Given the description of an element on the screen output the (x, y) to click on. 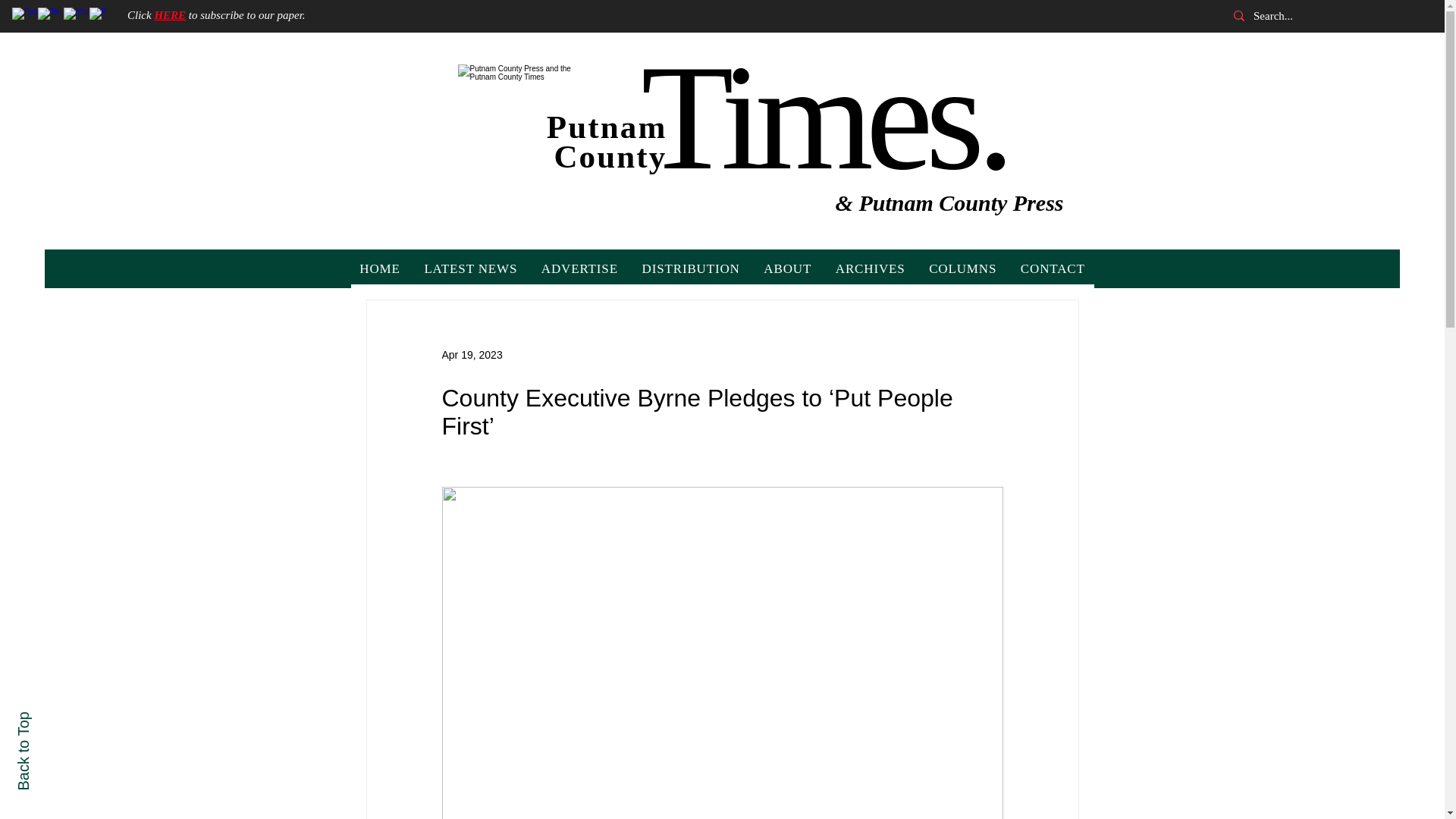
Apr 19, 2023 (471, 354)
Back to Top (54, 719)
CONTACT (1052, 268)
HERE (170, 15)
HOME (379, 268)
LATEST NEWS (469, 268)
COLUMNS (963, 268)
ADVERTISE (579, 268)
ABOUT (788, 268)
Times. (824, 116)
ARCHIVES (870, 268)
DISTRIBUTION (691, 268)
